Given the description of an element on the screen output the (x, y) to click on. 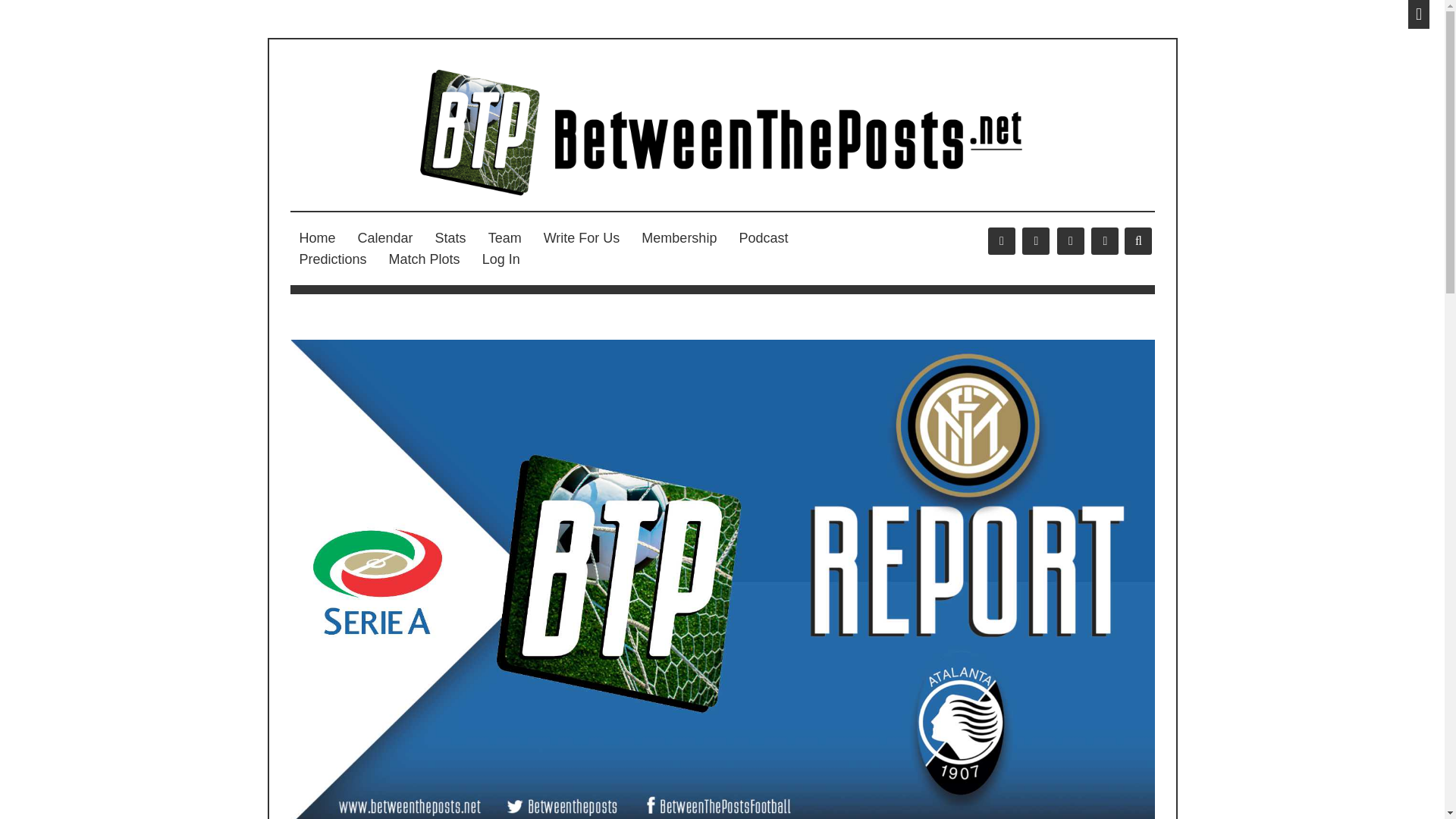
Home (316, 237)
Calendar (385, 237)
Log In (501, 259)
Match Plots (424, 259)
Membership (678, 237)
Instagram (1070, 240)
Twitter (1035, 240)
Predictions (332, 259)
Email (1104, 240)
Stats (451, 237)
Facebook (1001, 240)
Write For Us (581, 237)
Team (505, 237)
Podcast (762, 237)
